Given the description of an element on the screen output the (x, y) to click on. 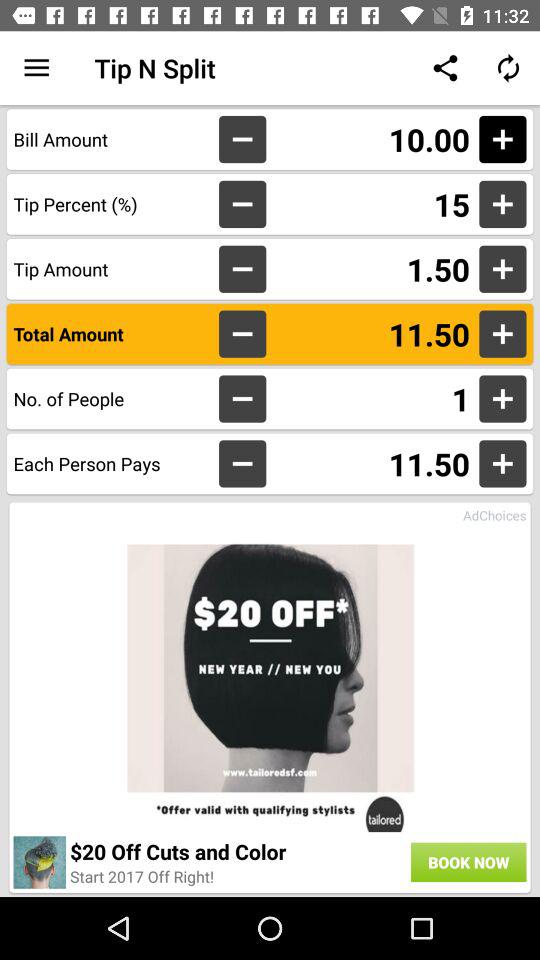
launch item above bill amount item (36, 68)
